Given the description of an element on the screen output the (x, y) to click on. 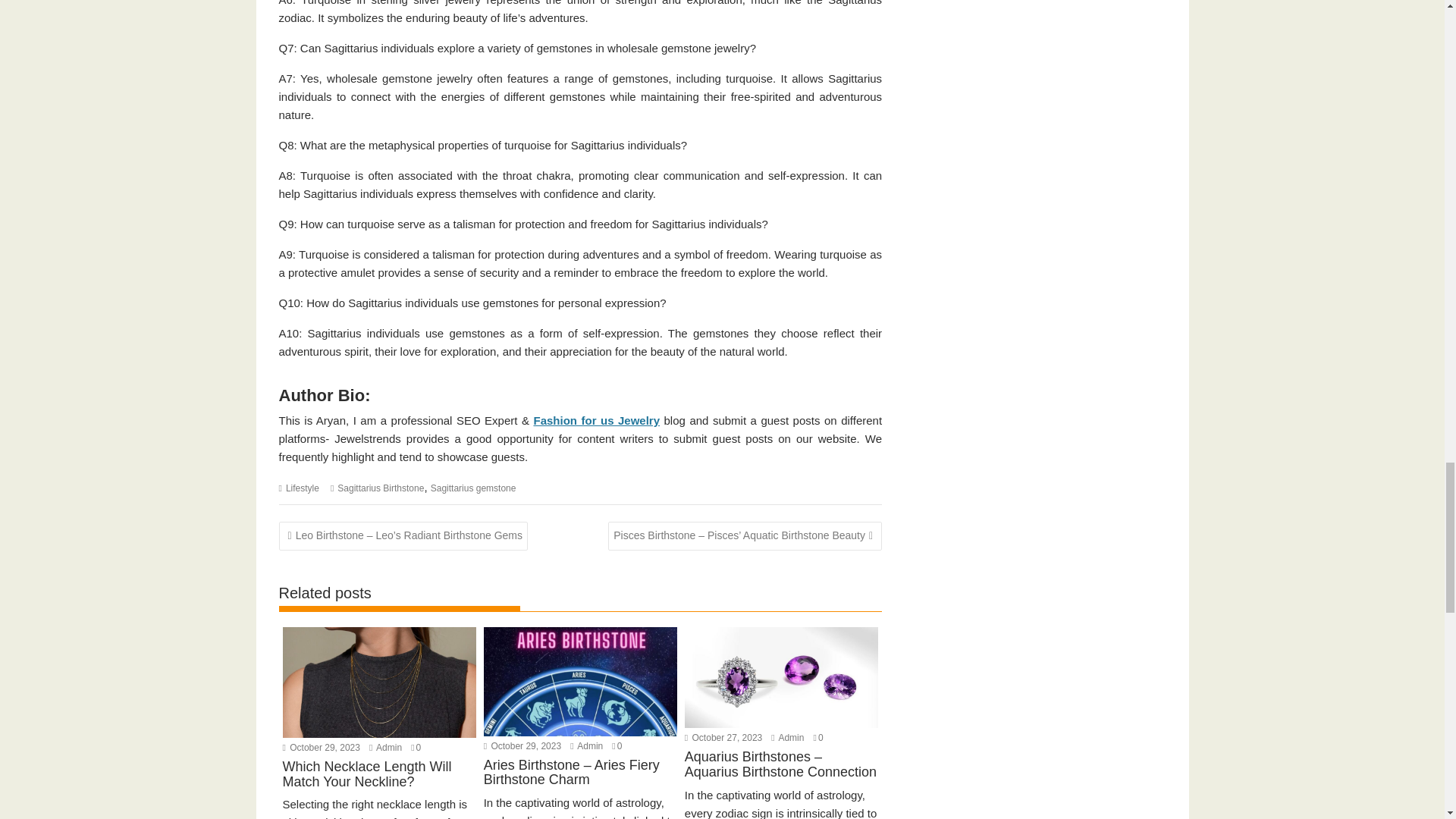
Lifestyle (301, 488)
Admin (787, 737)
Fashion for us Jewelry (595, 420)
Admin (385, 747)
Sagittarius Birthstone (380, 488)
Admin (586, 746)
